Given the description of an element on the screen output the (x, y) to click on. 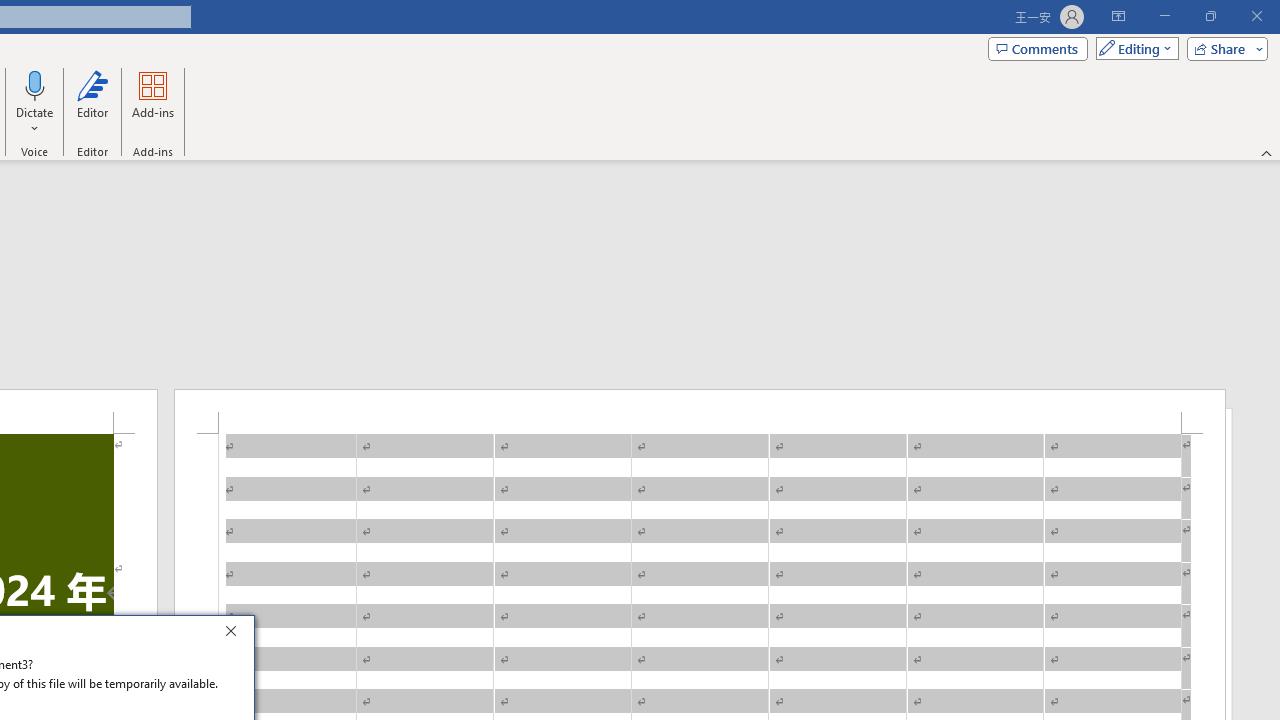
Header -Section 1- (700, 411)
